Given the description of an element on the screen output the (x, y) to click on. 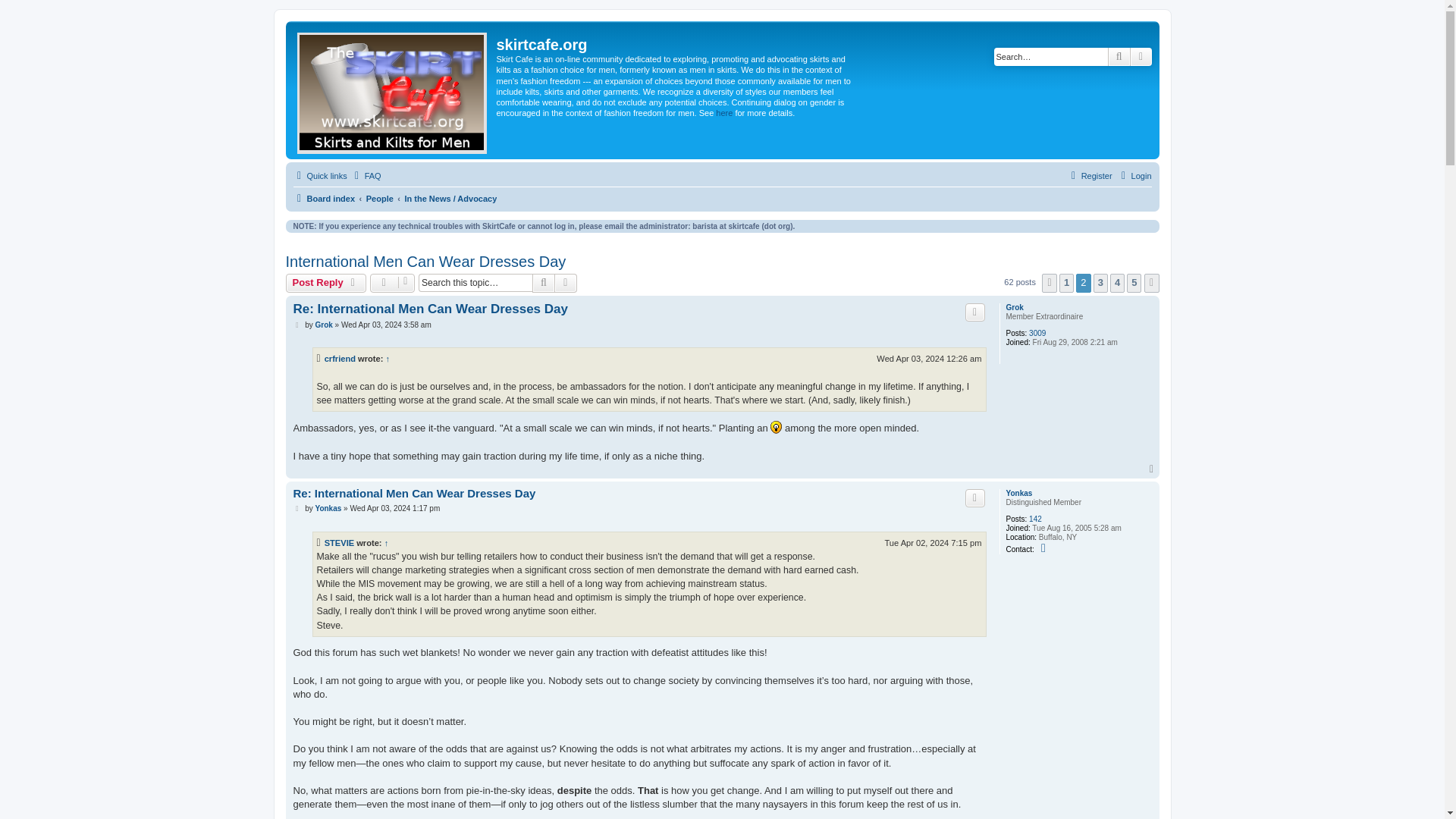
Frequently Asked Questions (365, 176)
Search (1119, 56)
Search for keywords (1051, 56)
Post (297, 325)
Yonkas (1019, 492)
Board index (323, 198)
3009 (1037, 333)
Post Reply (325, 282)
Advanced search (565, 282)
Topic tools (391, 282)
Top (1151, 469)
International Men Can Wear Dresses Day (425, 262)
Top (1151, 469)
Post a reply (325, 282)
Advanced search (565, 282)
